Given the description of an element on the screen output the (x, y) to click on. 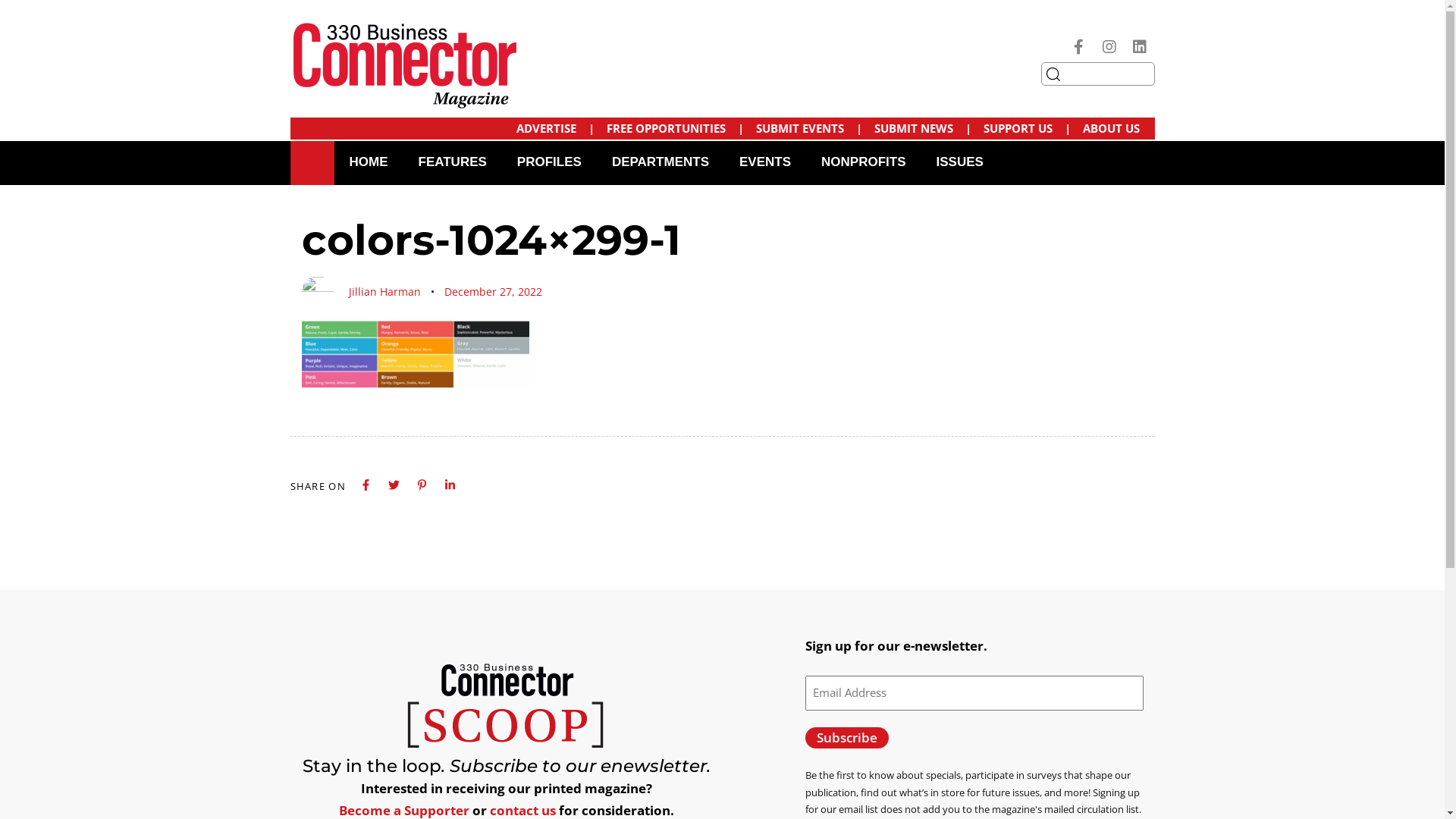
Jillian Harman Element type: text (384, 291)
DEPARTMENTS Element type: text (660, 162)
ISSUES Element type: text (958, 162)
December 27, 2022 Element type: text (493, 291)
PROFILES Element type: text (549, 162)
SUBMIT NEWS    | Element type: text (921, 128)
NONPROFITS Element type: text (863, 162)
SUBMIT EVENTS    | Element type: text (808, 128)
EVENTS Element type: text (765, 162)
FREE OPPORTUNITIES    | Element type: text (674, 128)
Subscribe Element type: text (846, 738)
HOME Element type: text (367, 162)
SUPPORT US    | Element type: text (1026, 128)
FEATURES Element type: text (452, 162)
ABOUT US Element type: text (1110, 128)
ADVERTISE    | Element type: text (554, 128)
